Given the description of an element on the screen output the (x, y) to click on. 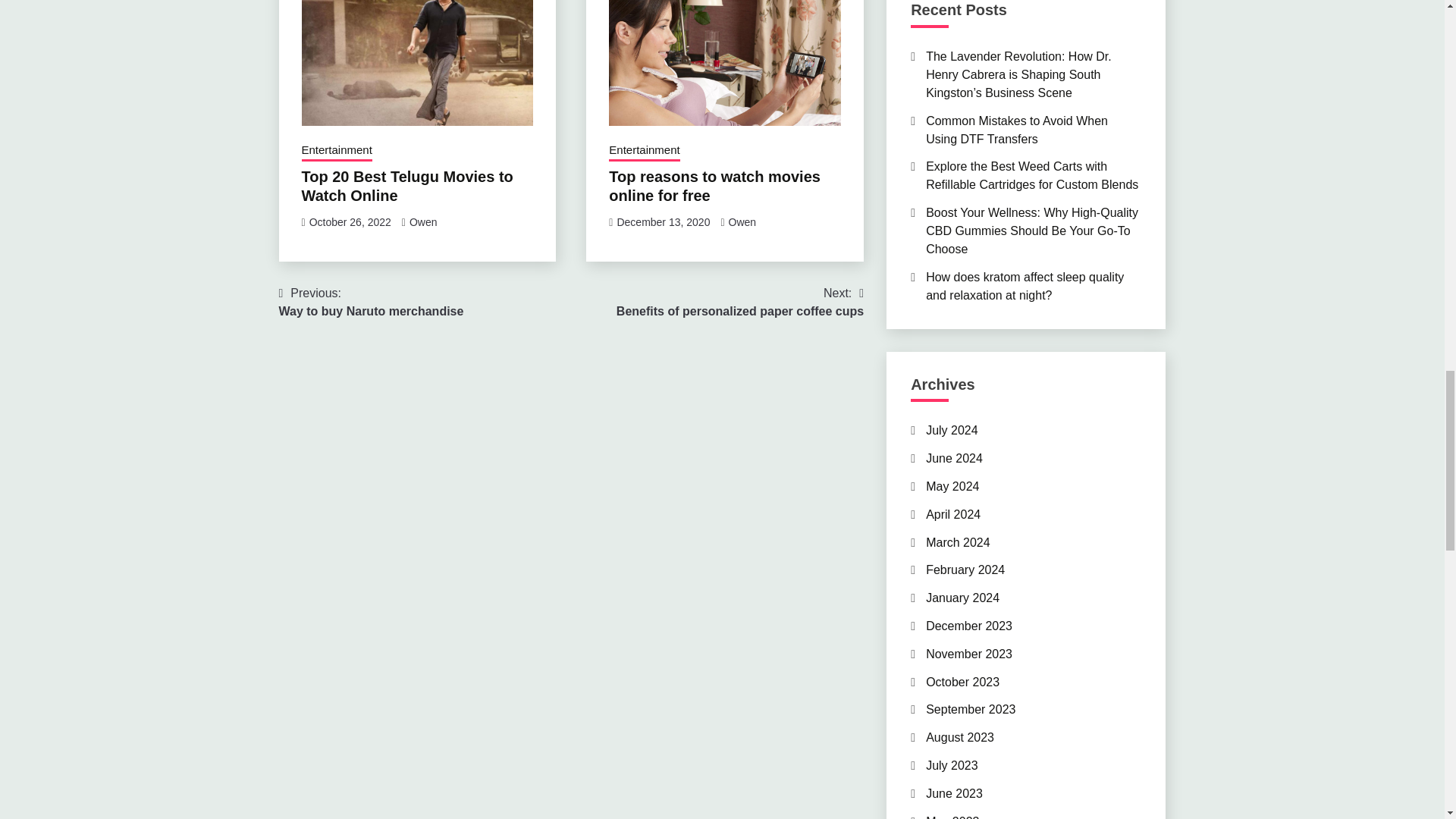
Owen (739, 302)
Owen (423, 222)
December 13, 2020 (371, 302)
Top reasons to watch movies online for free (743, 222)
Top 20 Best Telugu Movies to Watch Online (662, 222)
Entertainment (714, 185)
October 26, 2022 (407, 185)
Entertainment (643, 151)
